Given the description of an element on the screen output the (x, y) to click on. 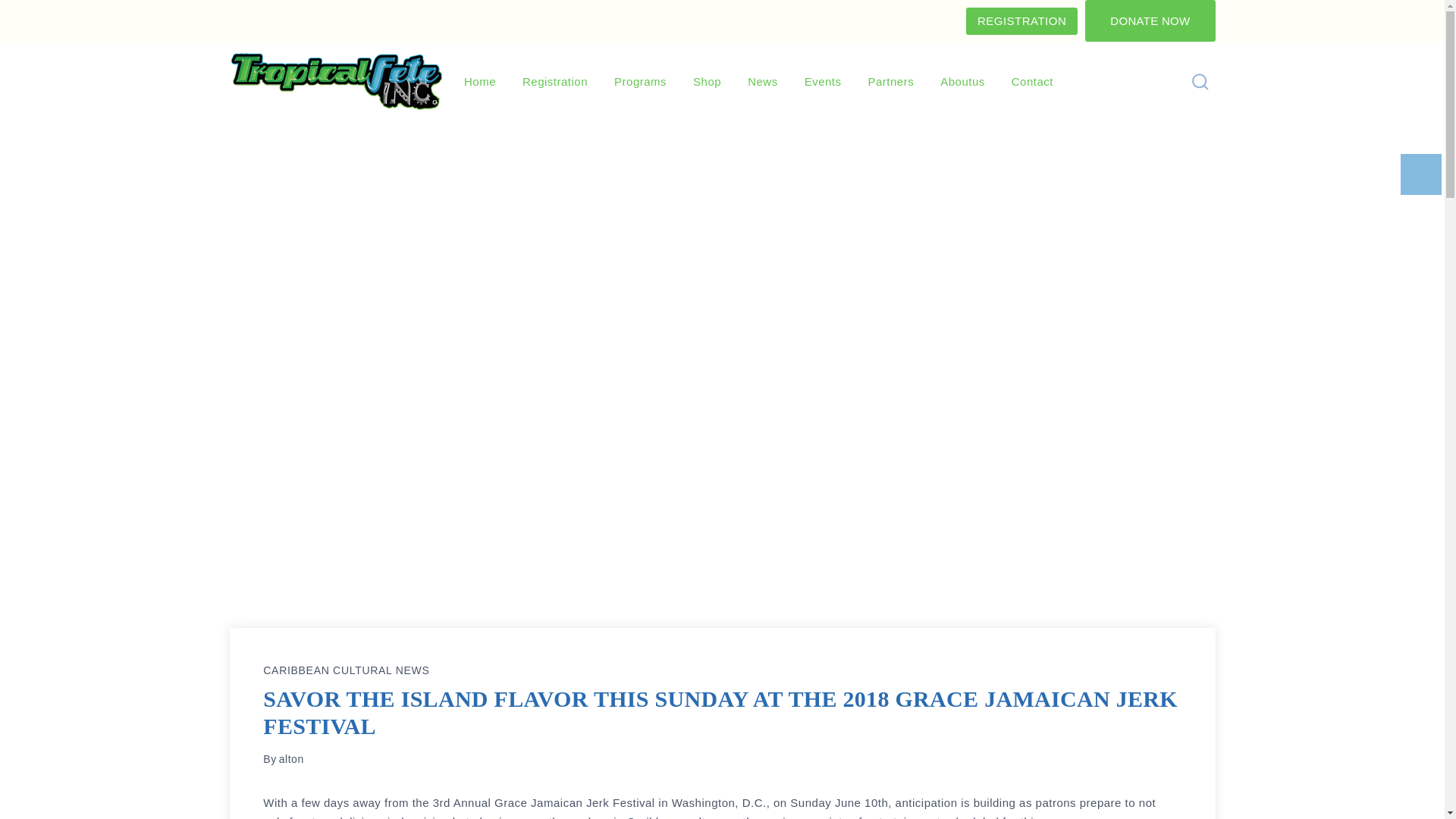
DONATE NOW (1149, 20)
REGISTRATION (1021, 21)
CARIBBEAN CULTURAL NEWS (346, 670)
Programs (640, 81)
Partners (890, 81)
Registration (555, 81)
alton (291, 758)
